Given the description of an element on the screen output the (x, y) to click on. 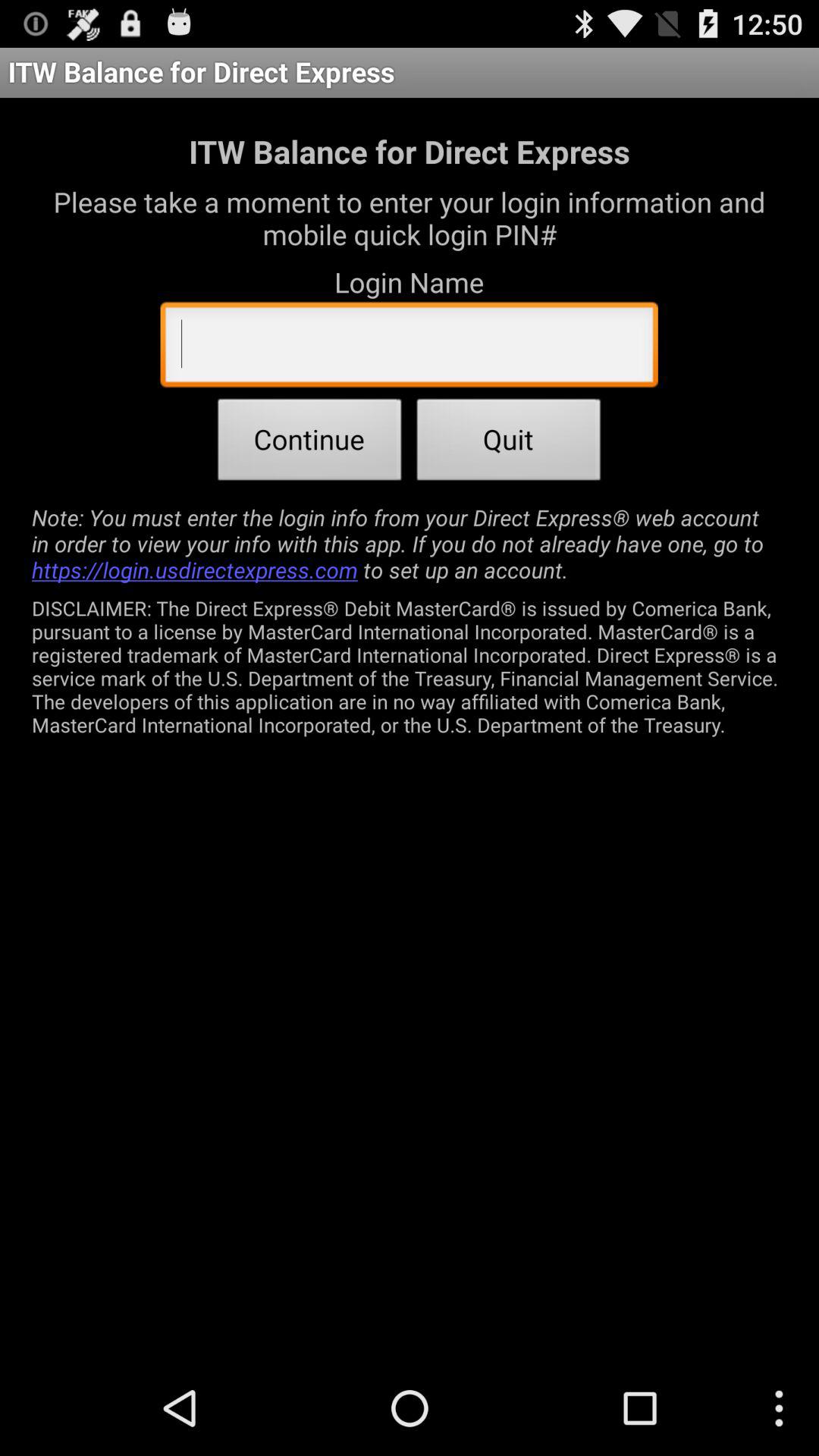
press app above note you must item (508, 443)
